Given the description of an element on the screen output the (x, y) to click on. 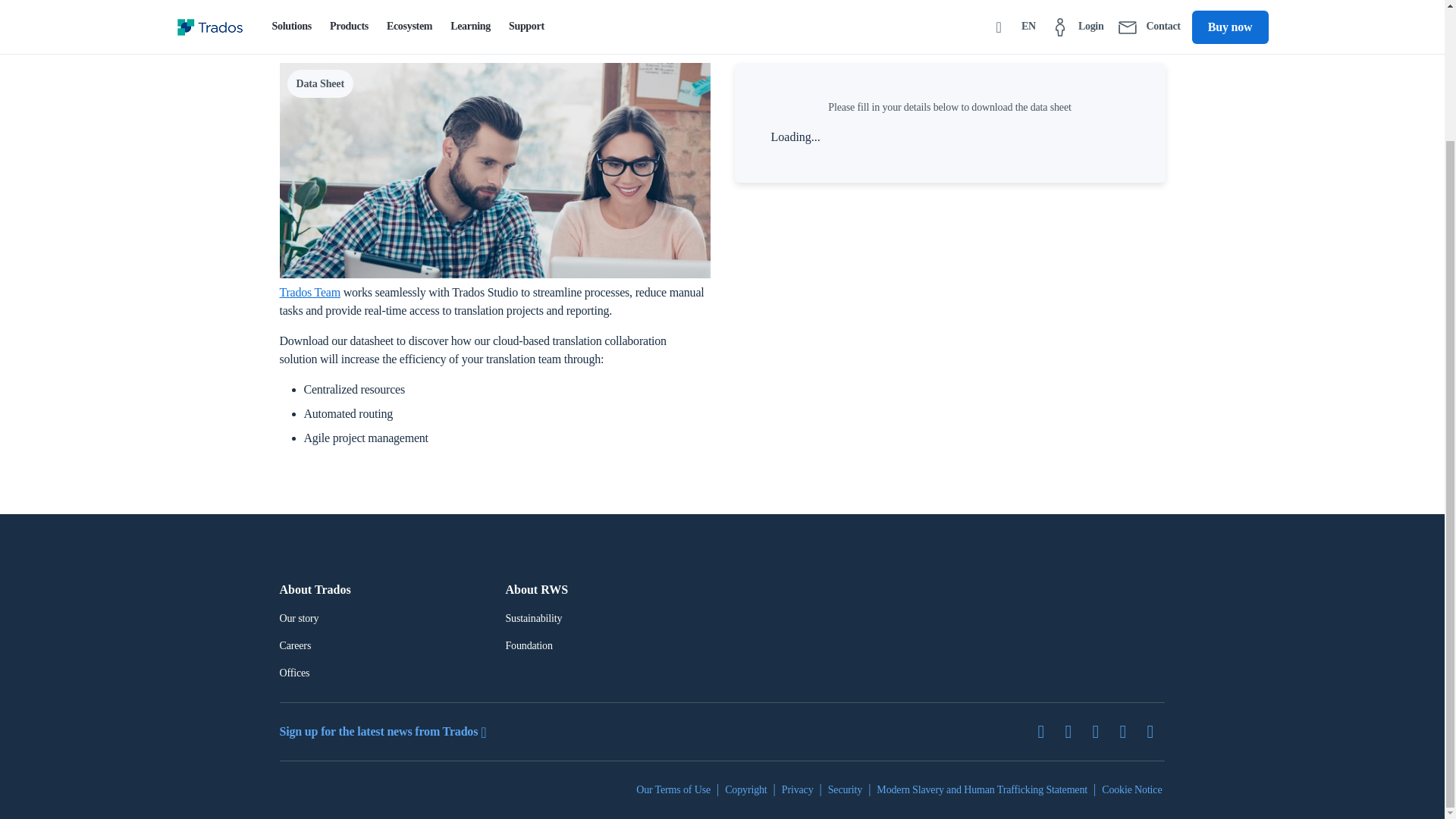
Twitter (1045, 731)
Instagram (1155, 731)
Trados Team (309, 291)
YouTube (1128, 731)
LinkedIn (1073, 731)
Facebook (1100, 731)
